Given the description of an element on the screen output the (x, y) to click on. 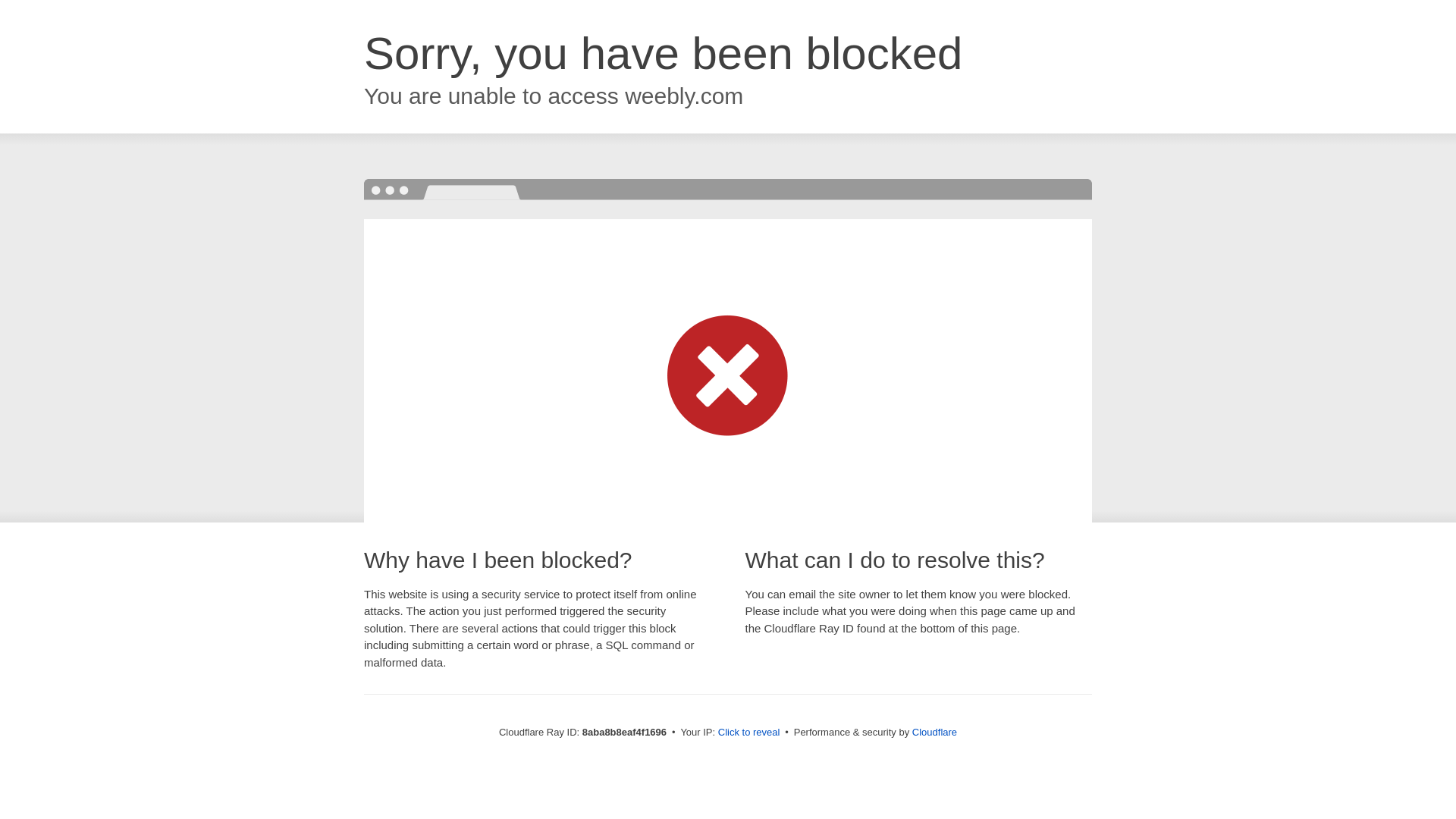
Click to reveal (748, 732)
Cloudflare (934, 731)
